Given the description of an element on the screen output the (x, y) to click on. 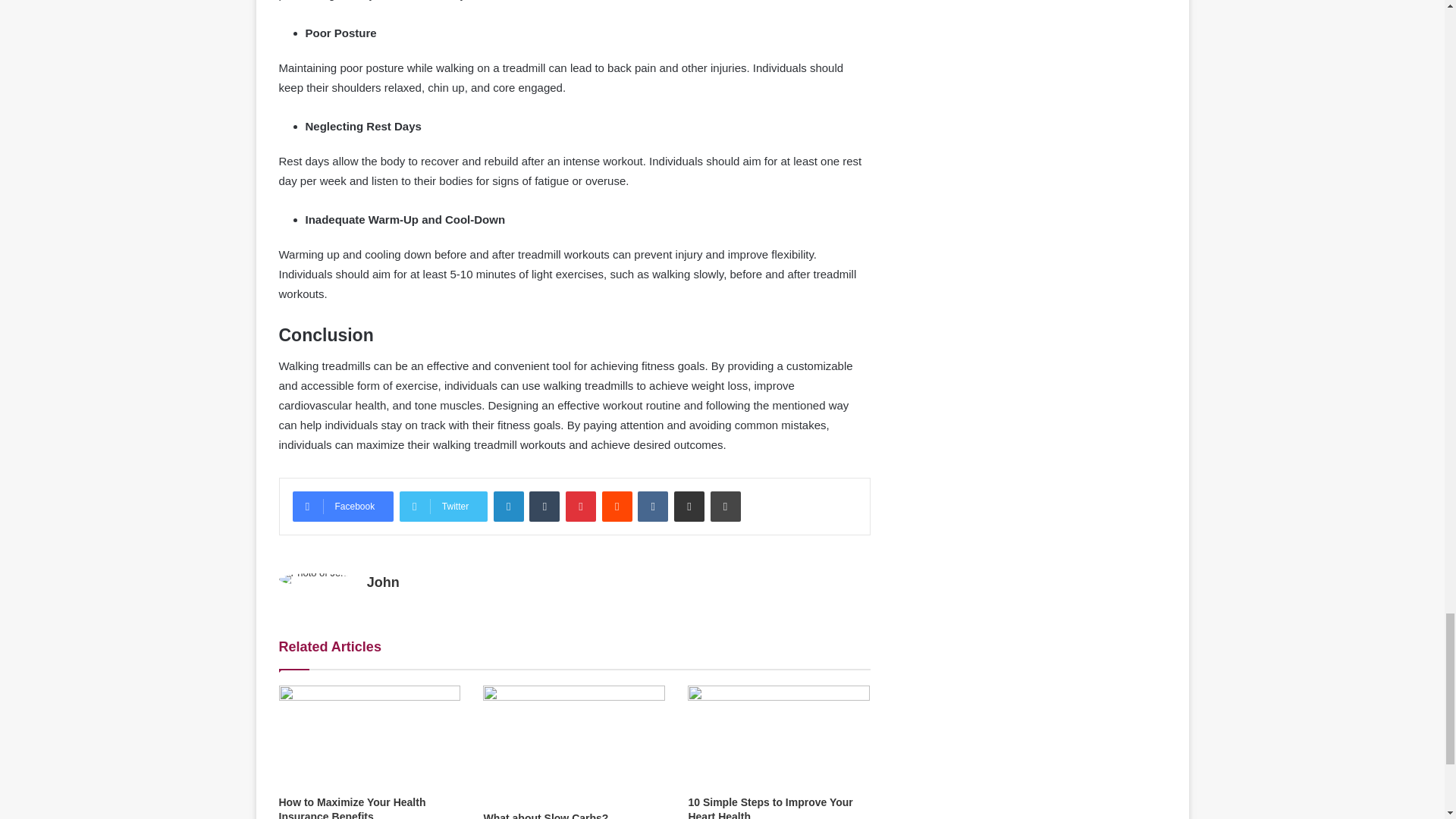
How to Maximize Your Health Insurance Benefits (352, 807)
Tumblr (544, 506)
Pinterest (580, 506)
Share via Email (689, 506)
Tumblr (544, 506)
10 Simple Steps to Improve Your Heart Health (769, 807)
Twitter (442, 506)
Share via Email (689, 506)
Facebook (343, 506)
Facebook (343, 506)
